Given the description of an element on the screen output the (x, y) to click on. 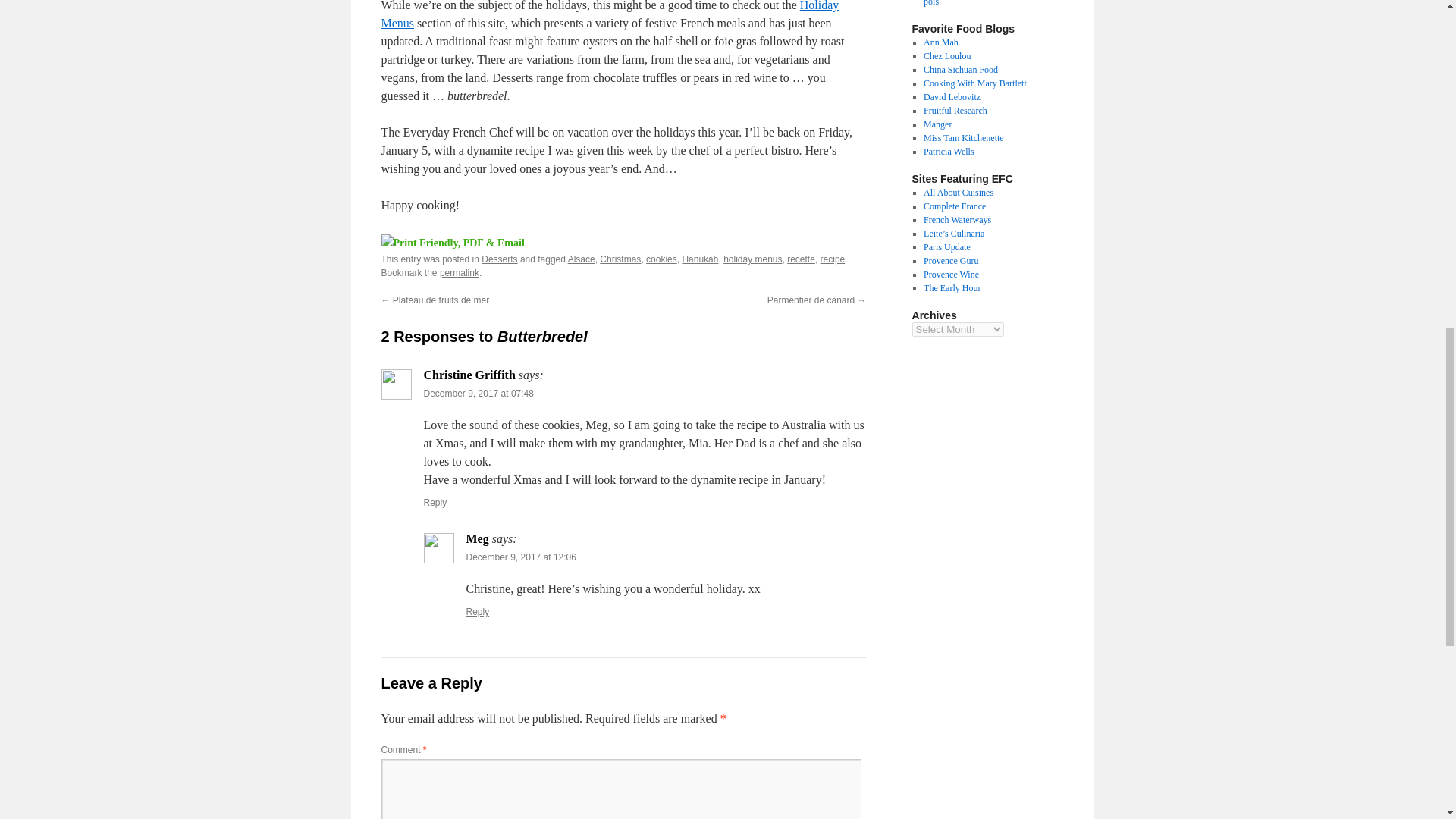
Permalink to Butterbredel (459, 272)
